Given the description of an element on the screen output the (x, y) to click on. 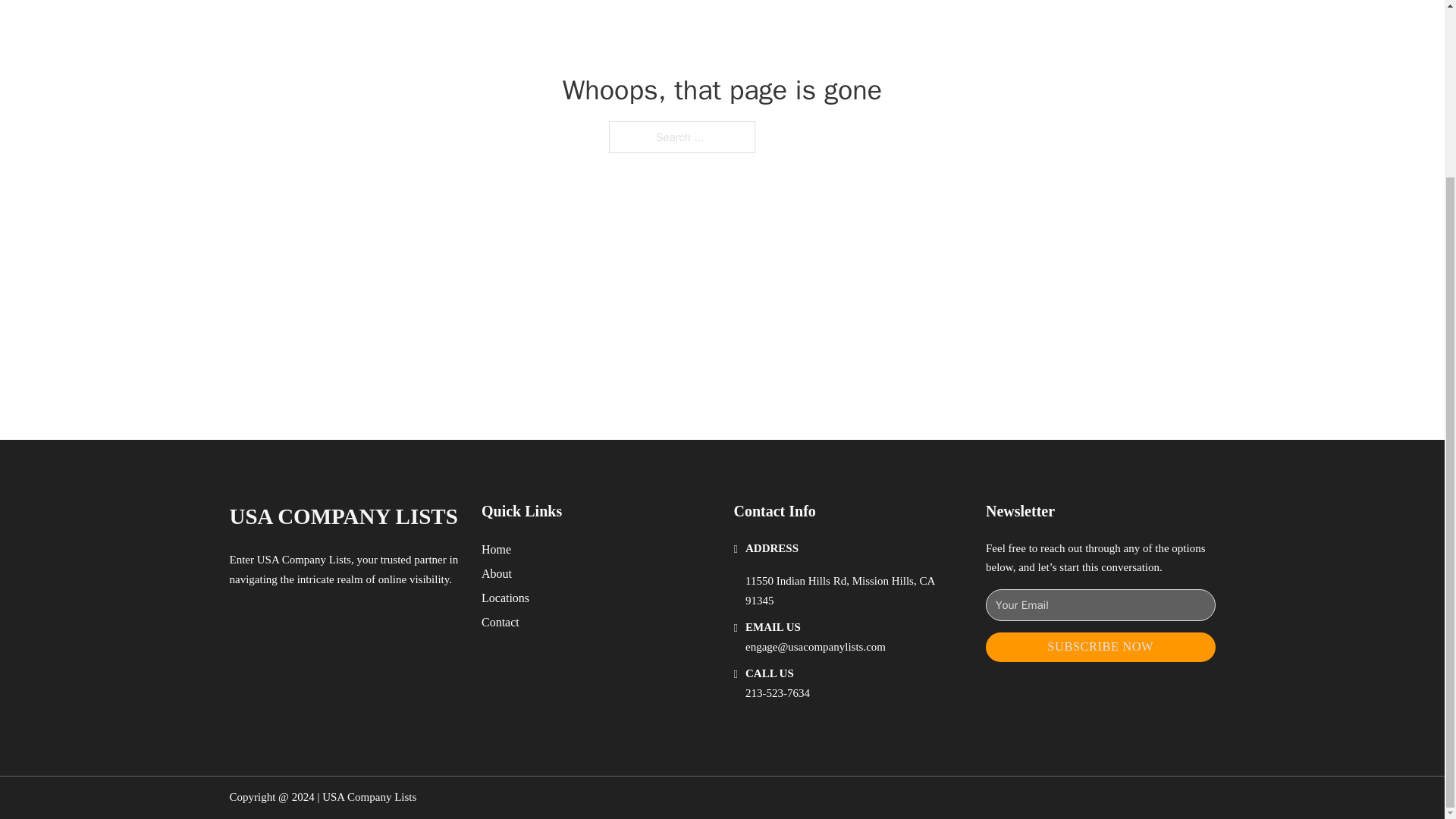
SUBSCRIBE NOW (1100, 646)
213-523-7634 (777, 693)
Locations (505, 598)
USA COMPANY LISTS (342, 516)
Home (496, 548)
About (496, 573)
Contact (500, 621)
